Given the description of an element on the screen output the (x, y) to click on. 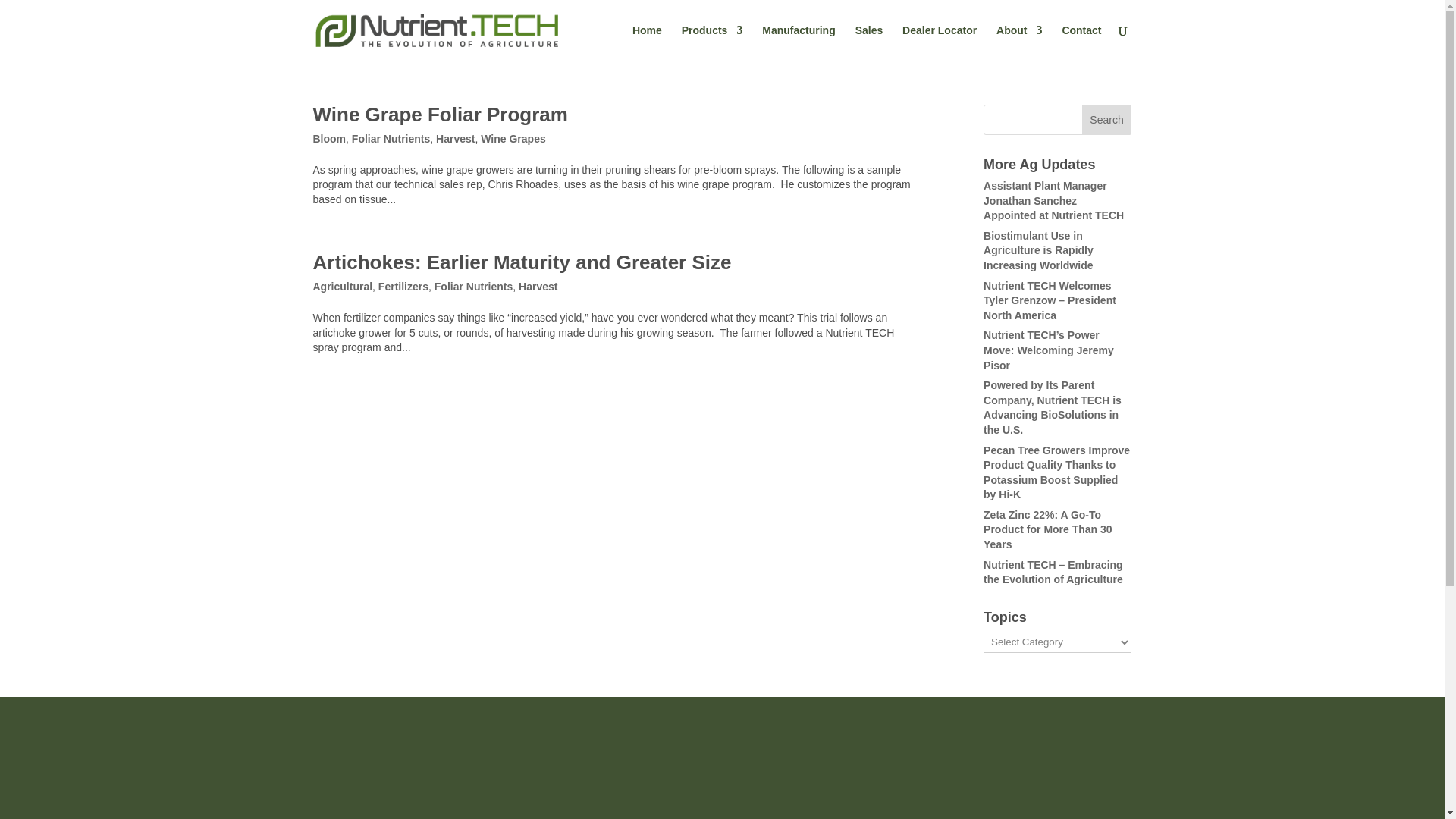
Search (1106, 119)
Bloom (329, 138)
Dealer Locator (939, 42)
Harvest (537, 286)
Manufacturing (797, 42)
About (1018, 42)
Wine Grapes (512, 138)
Agricultural (342, 286)
Foliar Nutrients (472, 286)
Harvest (454, 138)
Foliar Nutrients (390, 138)
Contact (1080, 42)
Wine Grape Foliar Program (440, 114)
Artichokes: Earlier Maturity and Greater Size (521, 261)
